Given the description of an element on the screen output the (x, y) to click on. 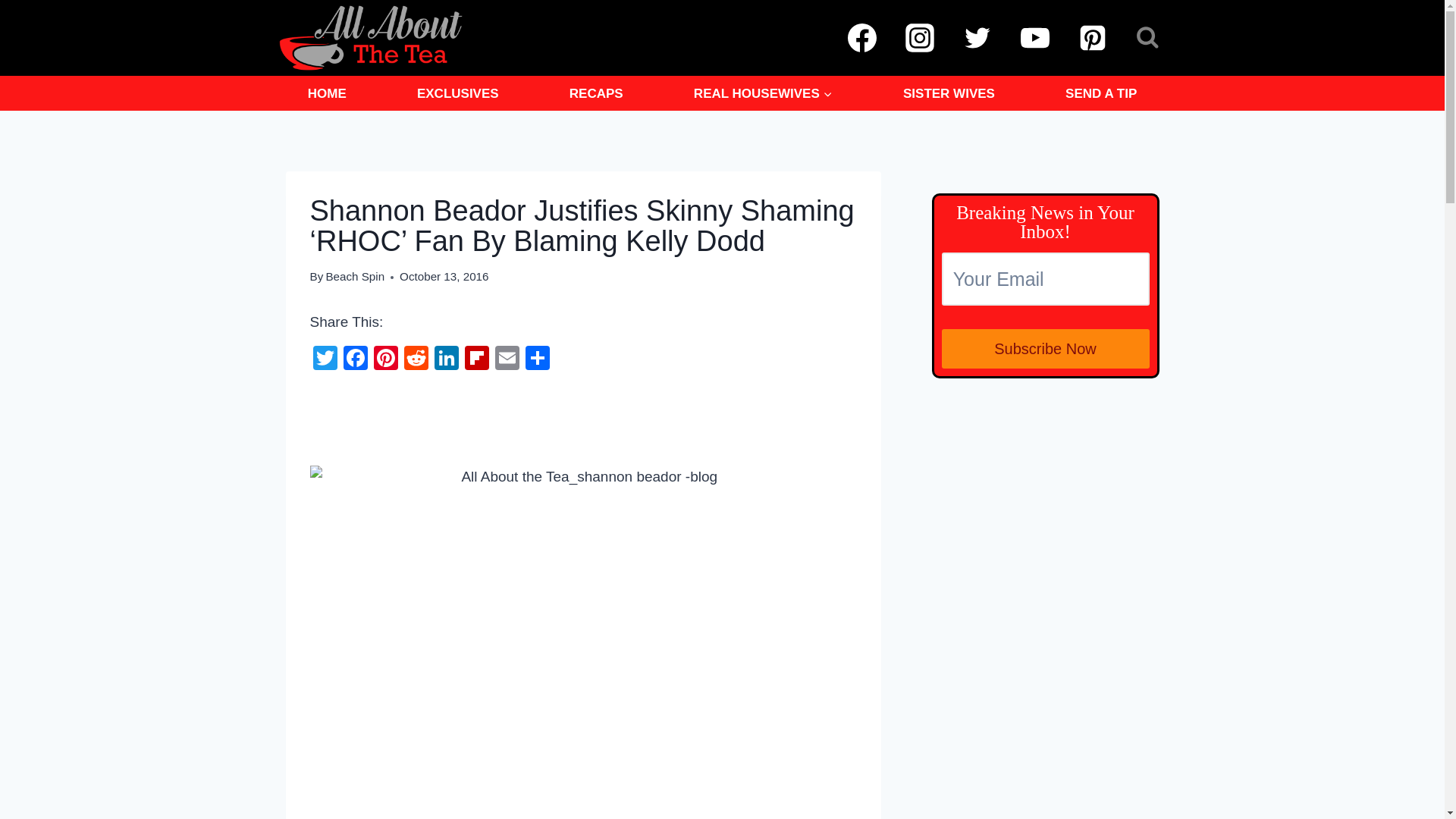
Reddit (415, 359)
LinkedIn (445, 359)
Pinterest (384, 359)
Pinterest (384, 359)
Email (506, 359)
SISTER WIVES (948, 93)
HOME (326, 93)
Twitter (323, 359)
Twitter (323, 359)
Facebook (354, 359)
